Given the description of an element on the screen output the (x, y) to click on. 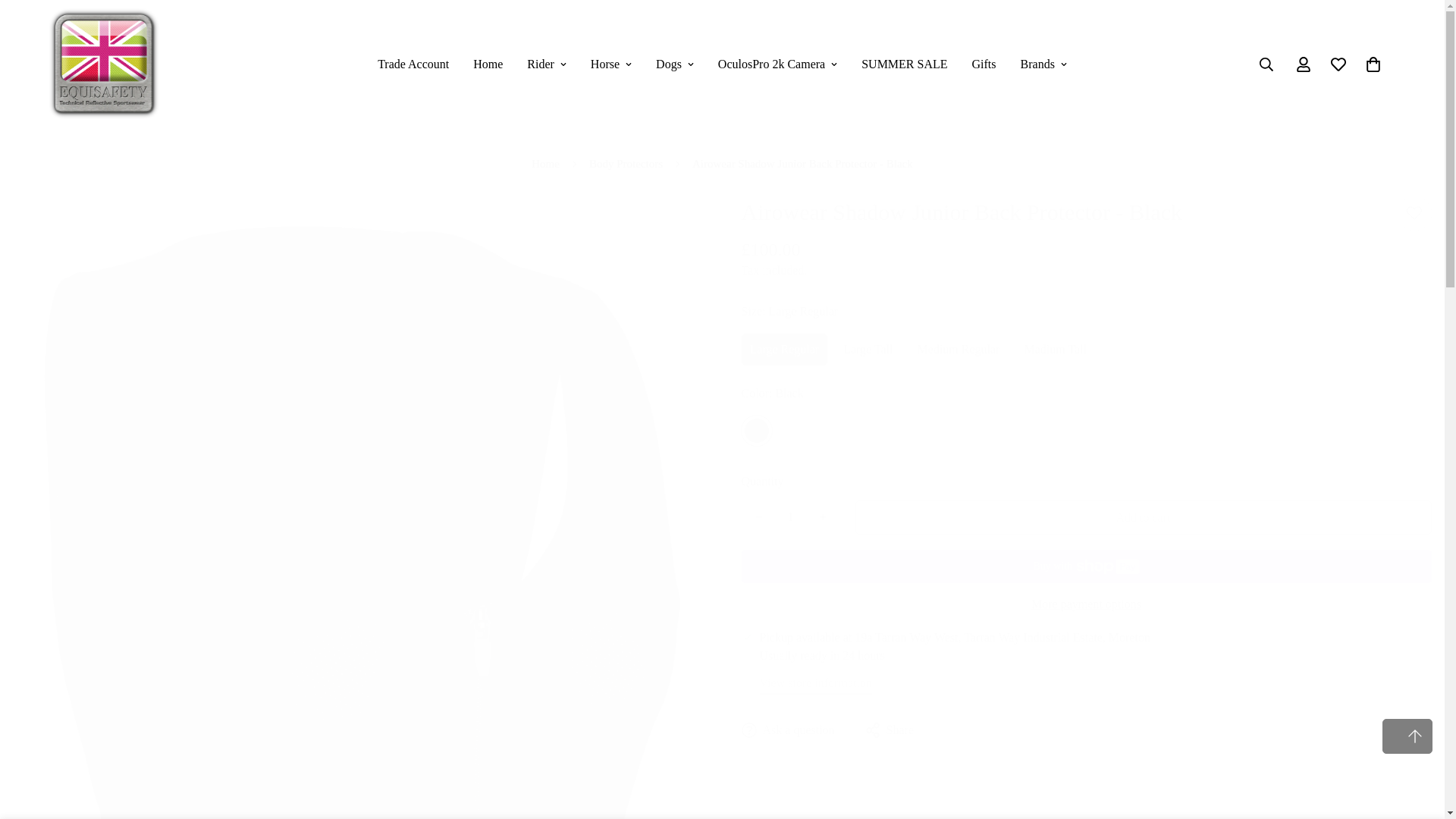
Equisafety  (103, 64)
1 (789, 516)
Back to the home page (544, 164)
